Given the description of an element on the screen output the (x, y) to click on. 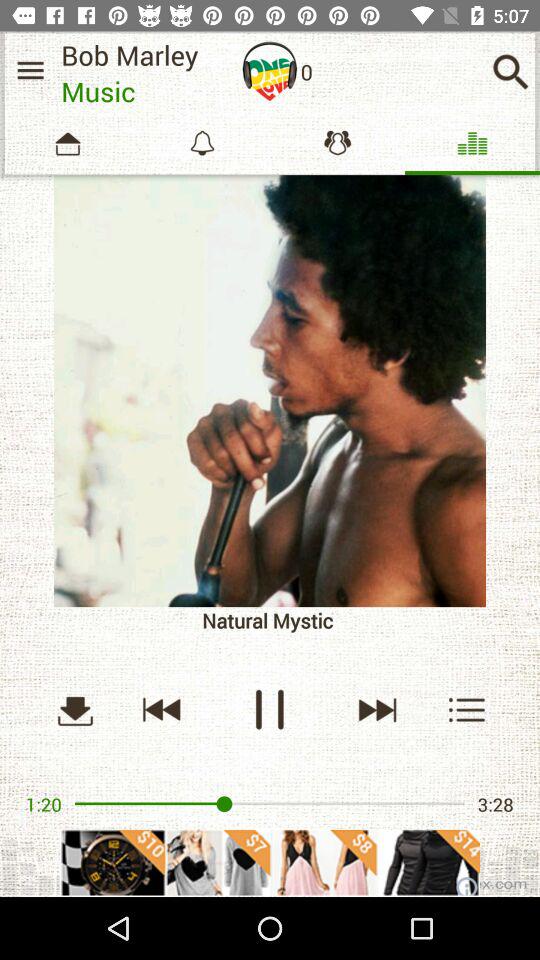
music list (30, 69)
